Given the description of an element on the screen output the (x, y) to click on. 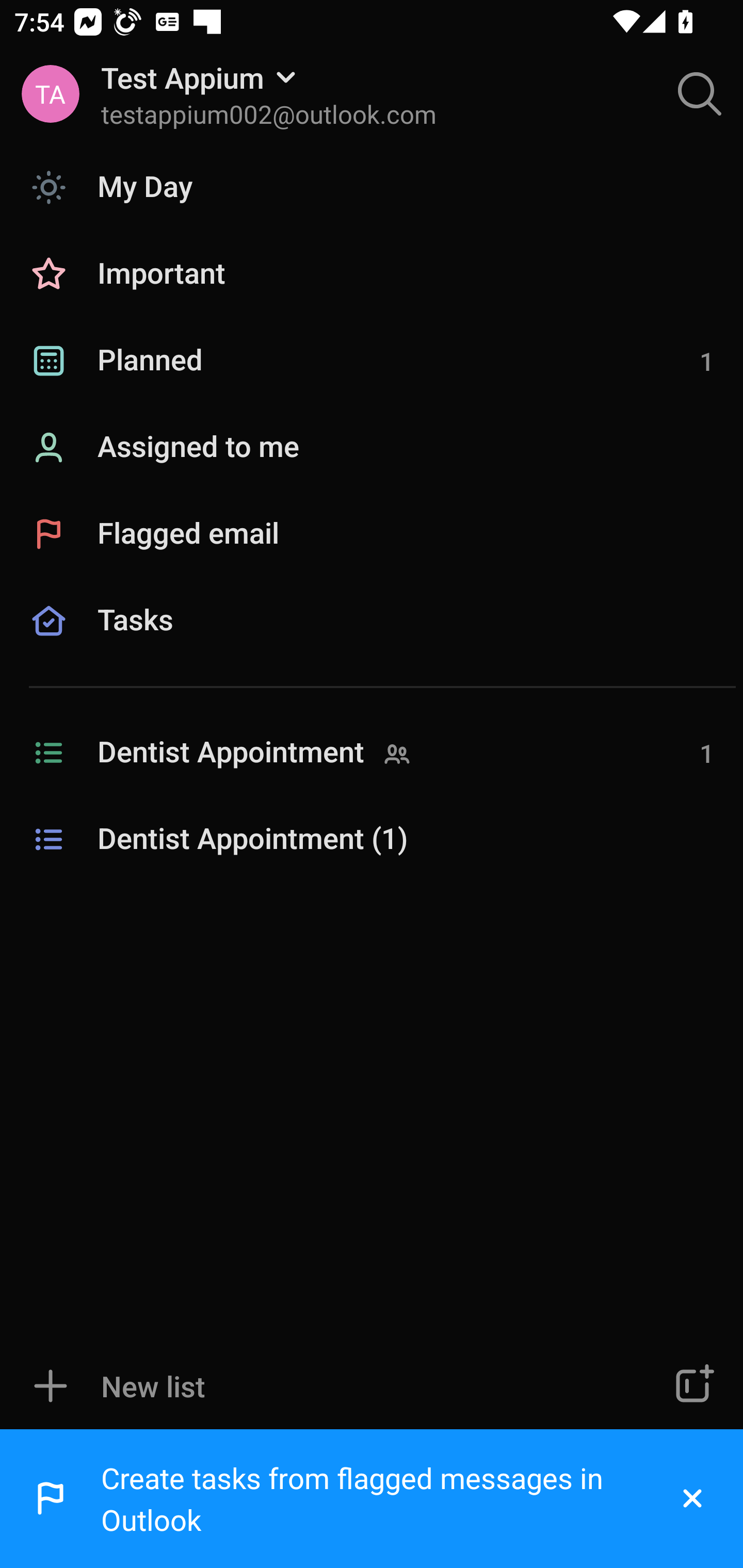
Enter search (699, 93)
My Day, 0 tasks My Day (371, 187)
Important, 0 tasks Important (371, 274)
Planned, 1 tasks Planned 1 (371, 361)
Assigned to me, 0 tasks Assigned to me (371, 447)
Flagged email (371, 533)
Tasks (371, 643)
Dentist Appointment (1) (371, 839)
New list (312, 1386)
Create group (692, 1386)
Close (692, 1498)
